Given the description of an element on the screen output the (x, y) to click on. 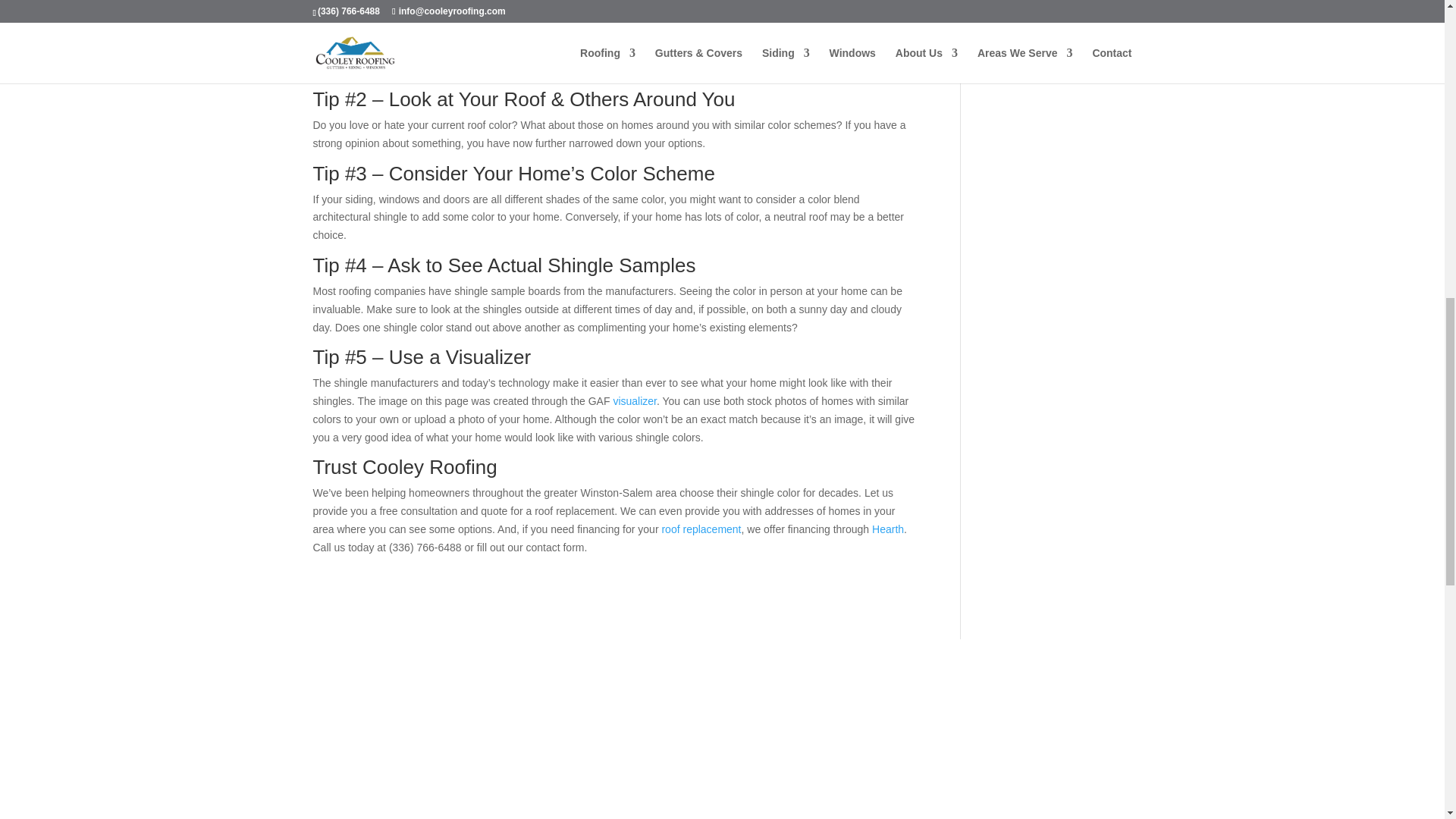
visualizer (634, 400)
roof replacement (701, 529)
Hearth (888, 529)
